Given the description of an element on the screen output the (x, y) to click on. 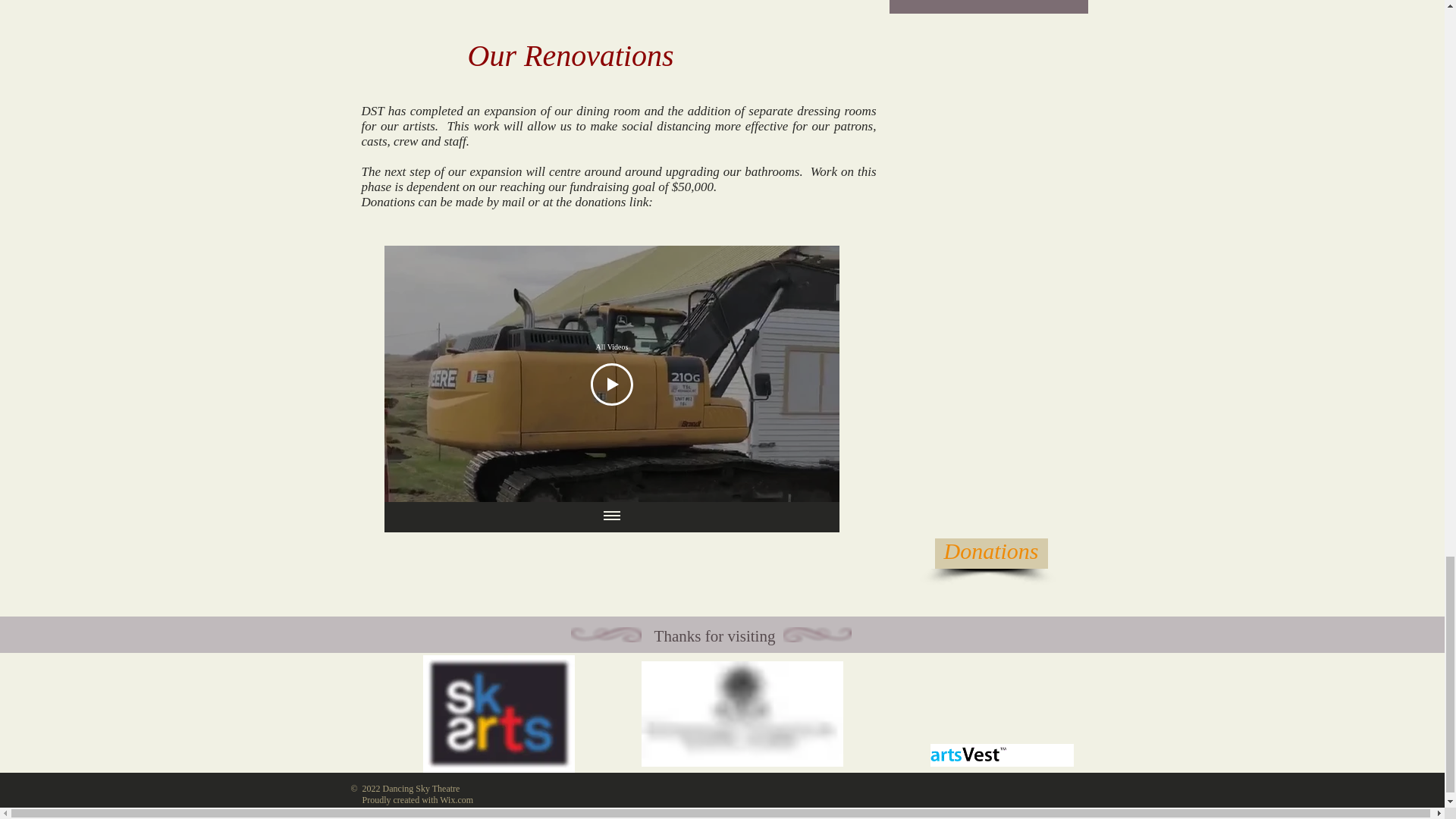
All Videos (611, 346)
Donations (990, 553)
Wix.com (456, 799)
